Given the description of an element on the screen output the (x, y) to click on. 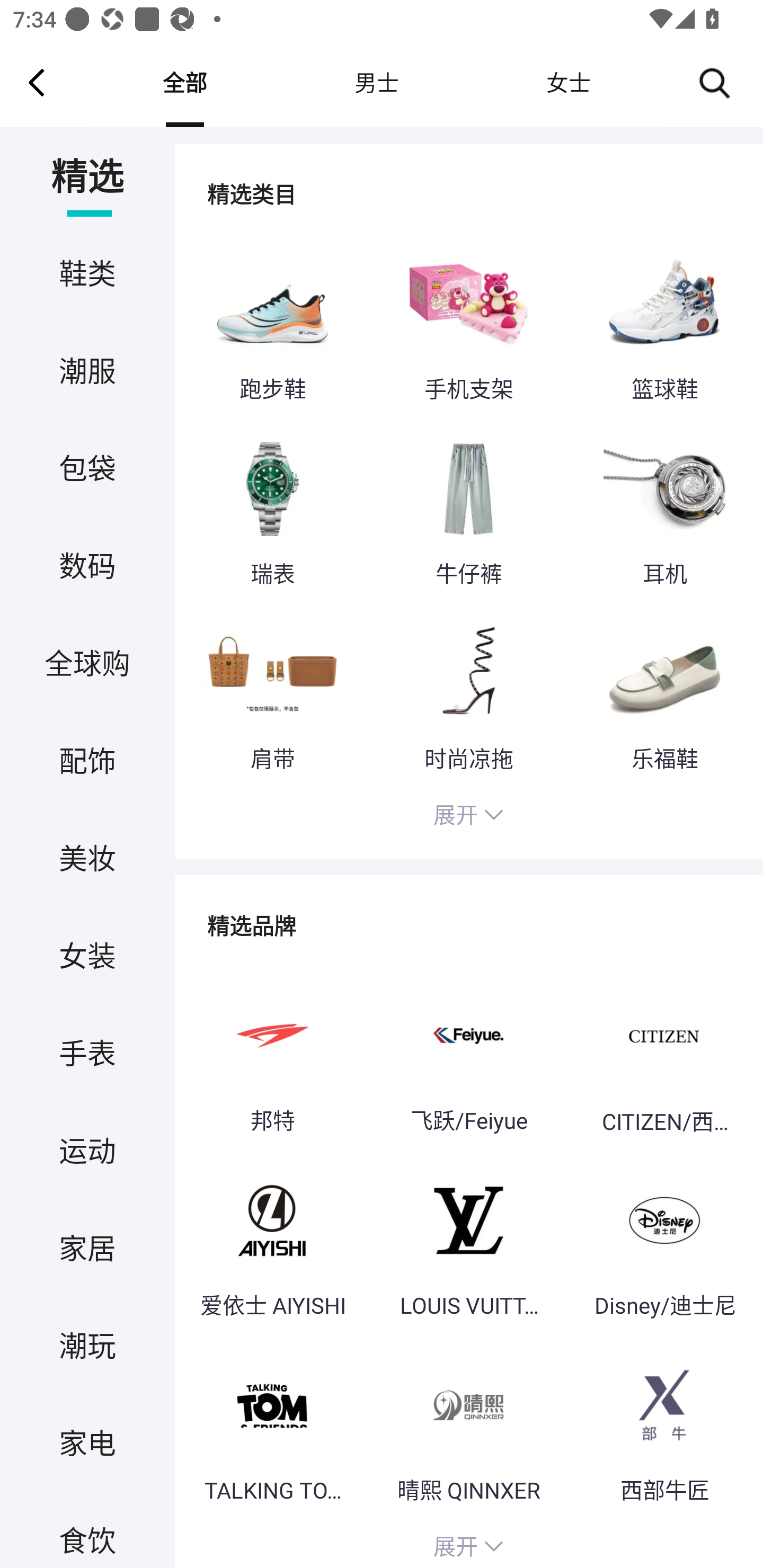
Navigate up (36, 82)
全部 (184, 82)
男士 (376, 82)
女士 (568, 82)
跑步鞋 (272, 325)
手机支架 (468, 325)
篮球鞋 (664, 325)
瑞表 (272, 510)
牛仔裤 (468, 510)
耳机 (664, 510)
肩带 (272, 694)
时尚凉拖 (468, 694)
乐福鞋 (664, 694)
展开  (468, 817)
邦特 (272, 1056)
飞跃/Feiyue (468, 1056)
CITIZEN/西铁城 (664, 1056)
爱依士 AIYISHI (272, 1241)
LOUIS VUITTON/路易威登 (468, 1241)
Disney/迪士尼 (664, 1241)
TALKING TOM 会说话的汤姆猫 (272, 1426)
晴熙 QINNXER (468, 1426)
西部牛匠 (664, 1426)
展开  (468, 1543)
